Given the description of an element on the screen output the (x, y) to click on. 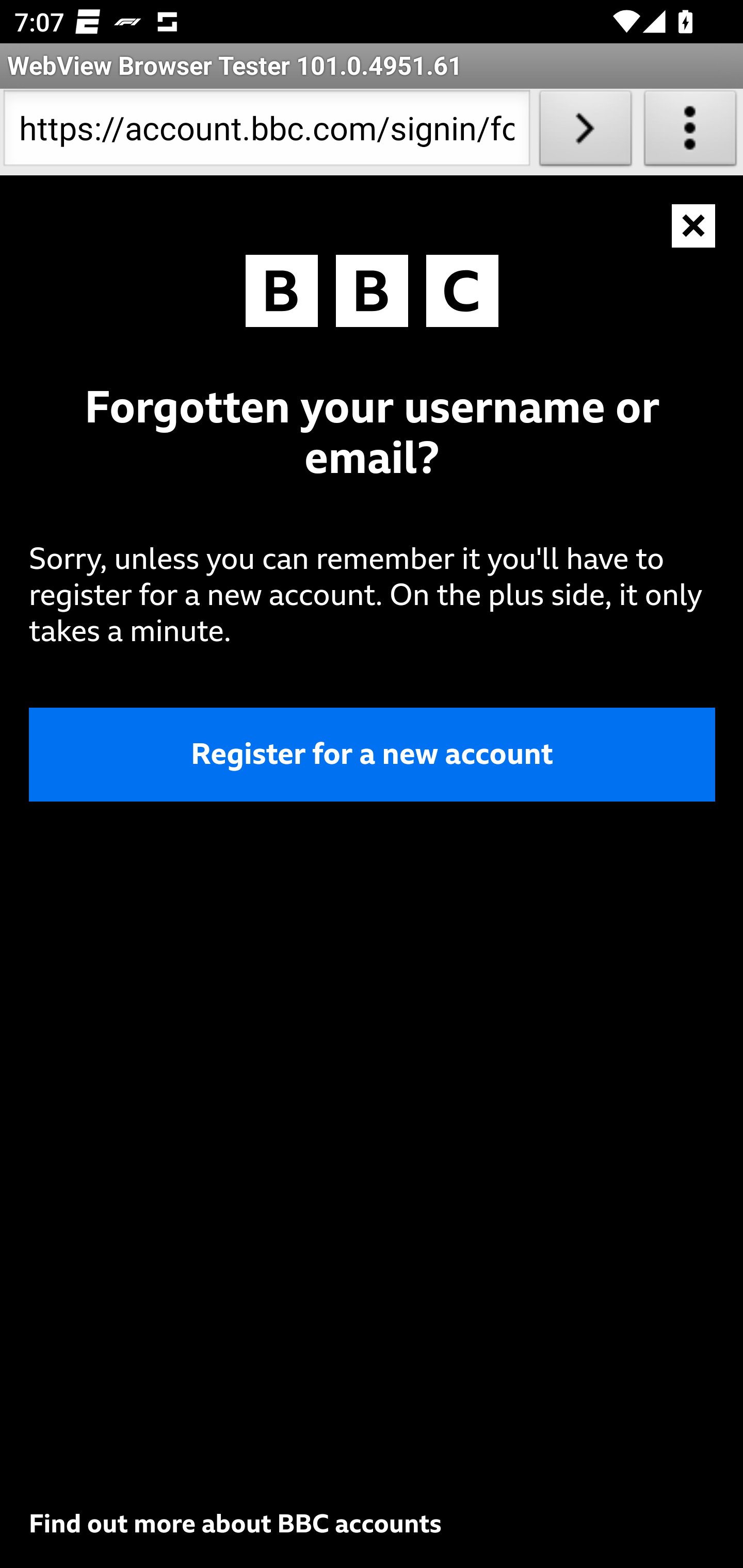
Load URL (585, 132)
About WebView (690, 132)
Close and return to where you originally came from (694, 226)
Go to the BBC Homepage (371, 294)
Register for a new account (372, 753)
Find out more about BBC accounts (235, 1523)
